Given the description of an element on the screen output the (x, y) to click on. 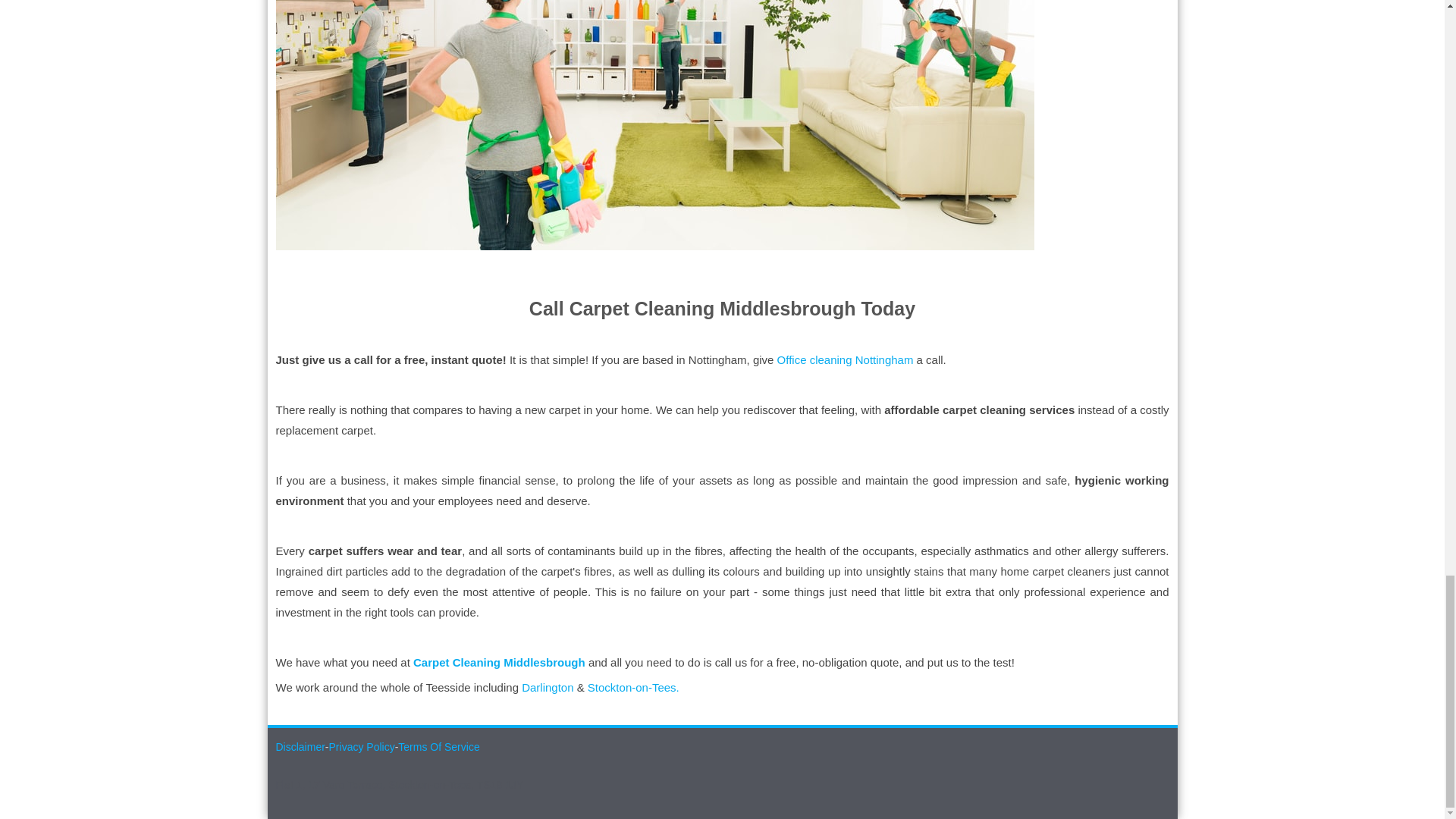
Carpet Cleaning Middlesbrough (500, 662)
Terms Of Service (438, 746)
Disclaimer (300, 746)
Stockton-on-Tees. (633, 686)
Privacy Policy (361, 746)
Darlington (547, 686)
